Given the description of an element on the screen output the (x, y) to click on. 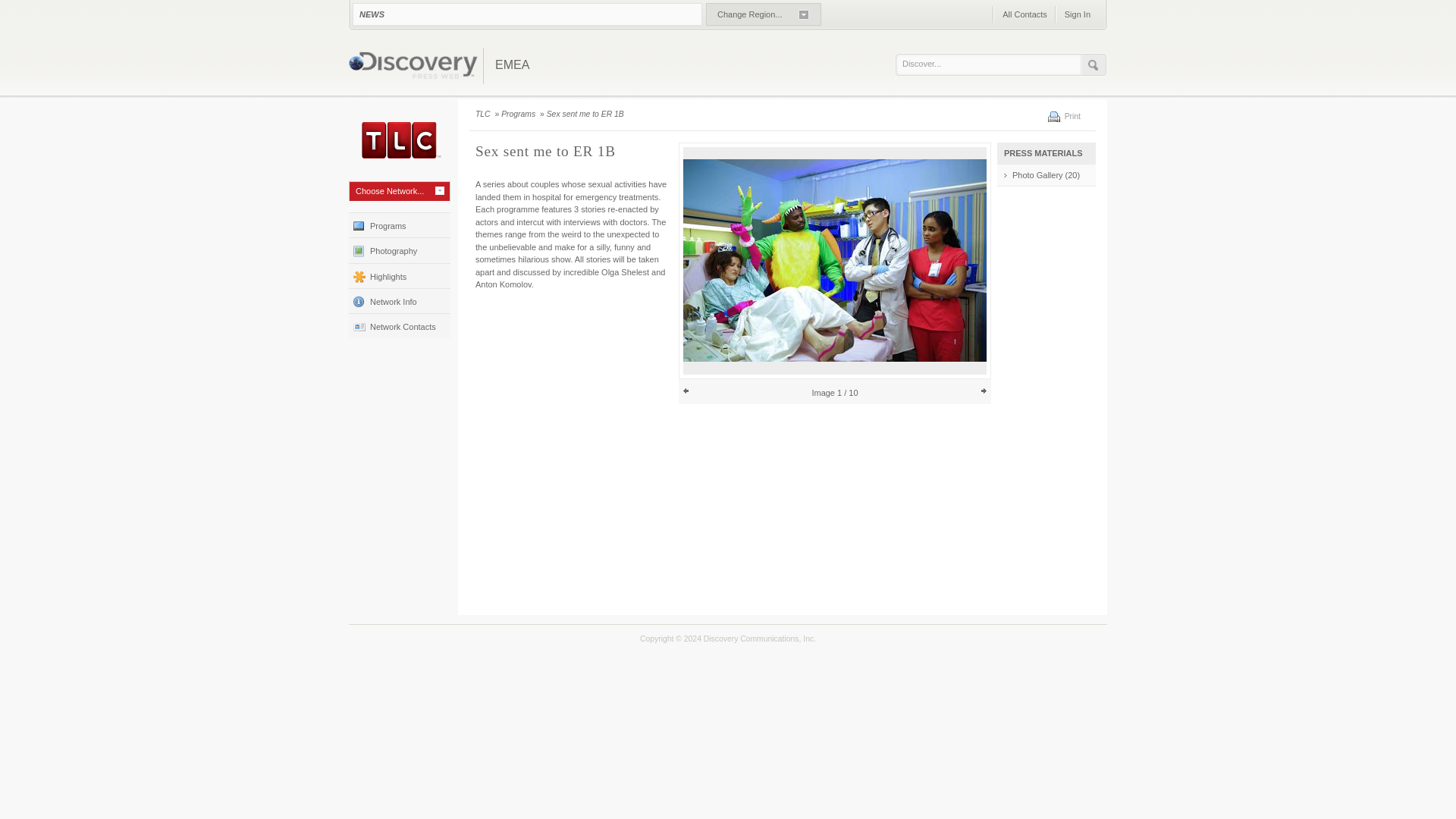
Next (983, 391)
Network Info (399, 300)
Discover... (991, 63)
Sign In (1076, 13)
All Contacts (1023, 13)
Search (1093, 64)
TLC (399, 139)
Photography (399, 249)
Highlights (399, 275)
TLC (484, 113)
Sex sent me to ER 1B (586, 113)
Previous (686, 391)
Programs (518, 113)
Network Contacts (399, 325)
Programs (399, 224)
